Given the description of an element on the screen output the (x, y) to click on. 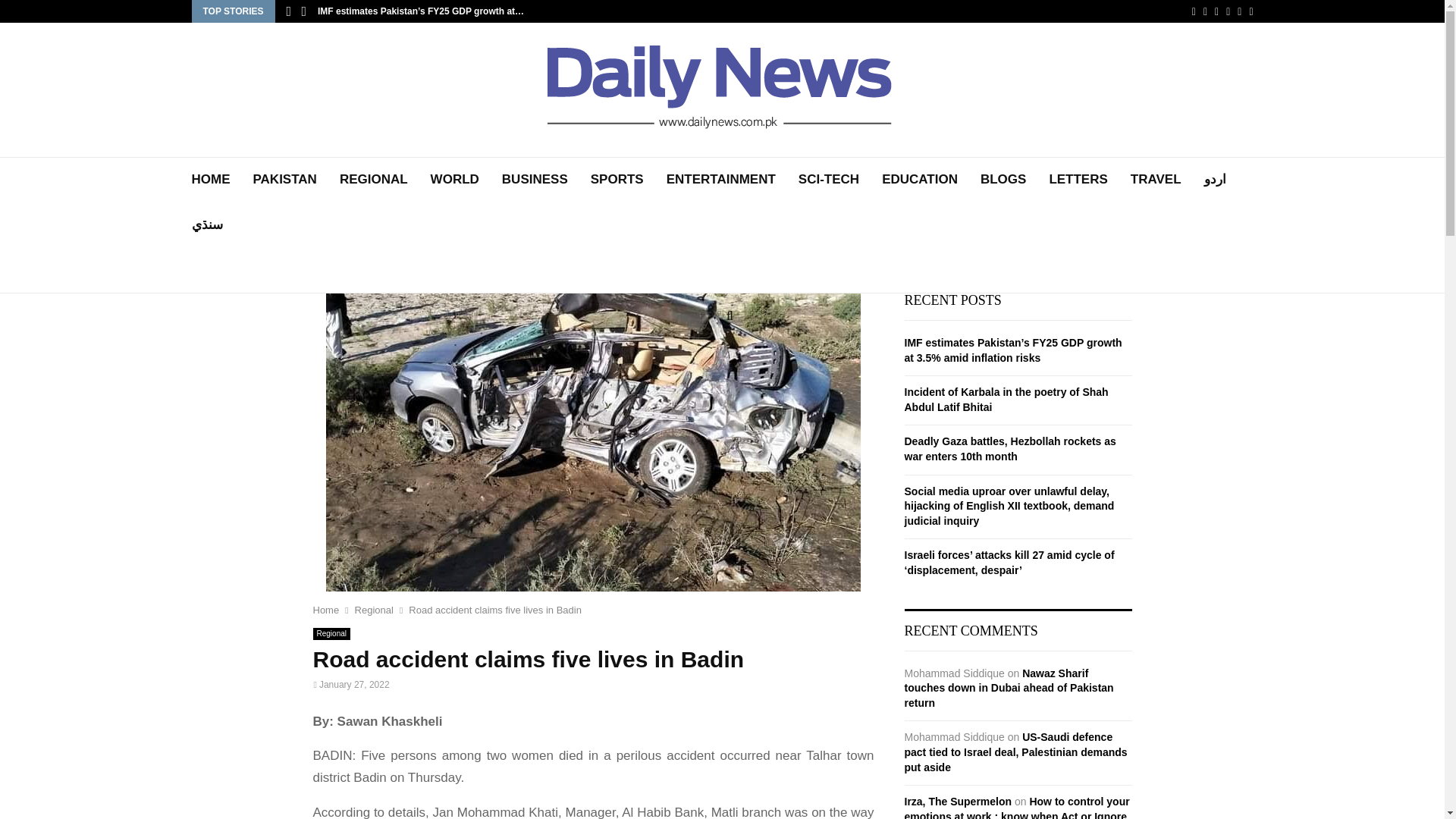
Twitter (1205, 11)
SPORTS (617, 179)
WORLD (454, 179)
ENTERTAINMENT (721, 179)
Xing (1250, 11)
LETTERS (1077, 179)
PAKISTAN (285, 179)
Xing (1250, 11)
Rss (1239, 11)
BUSINESS (534, 179)
Rss (1239, 11)
Linkedin (1216, 11)
Youtube (1227, 11)
Linkedin (1216, 11)
SCI-TECH (828, 179)
